Given the description of an element on the screen output the (x, y) to click on. 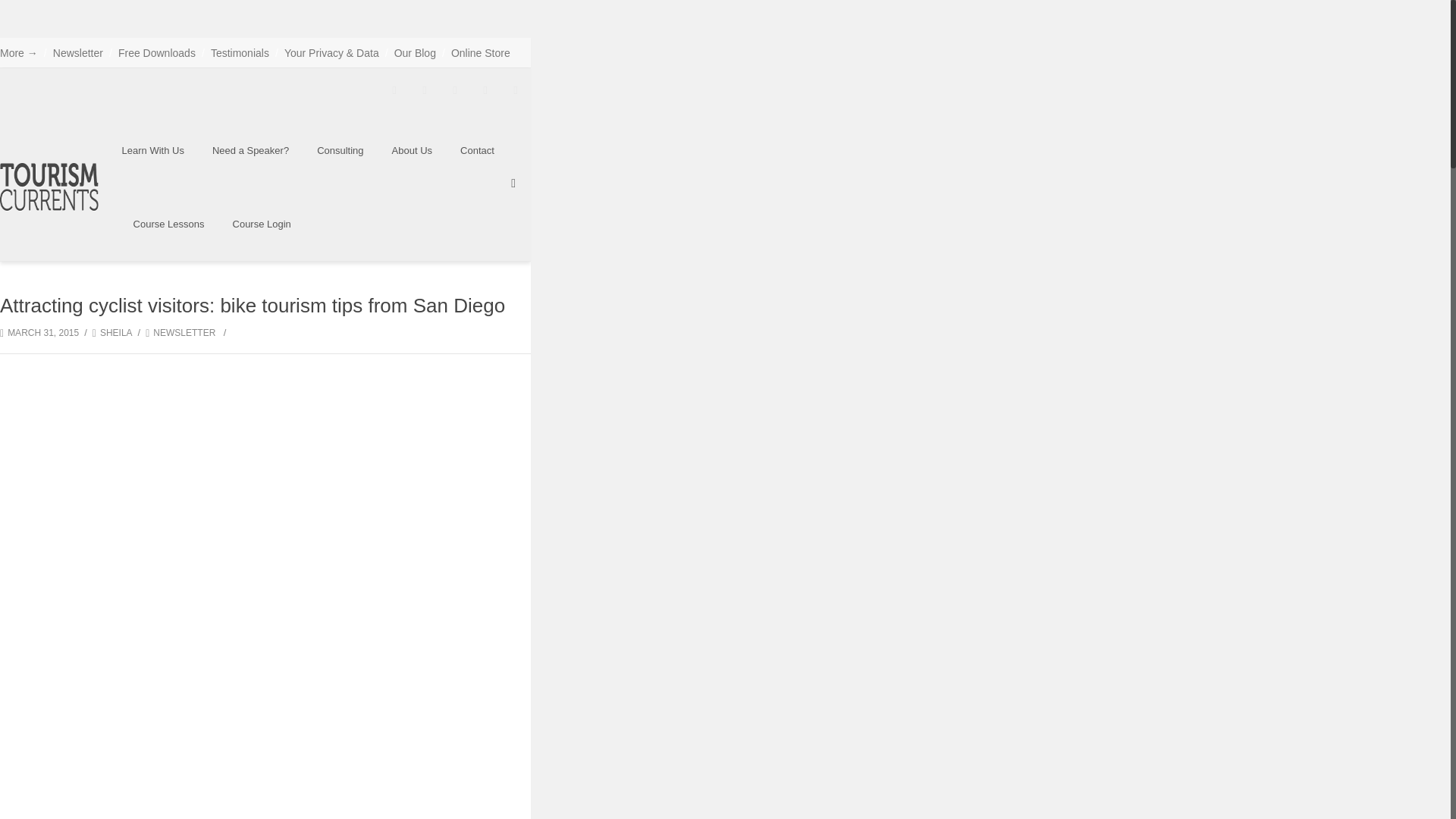
Online Store (481, 52)
Newsletter (77, 52)
Our Blog (414, 52)
Posts by Sheila (116, 332)
SHEILA (116, 332)
Course Login (261, 224)
View all posts in Newsletter (180, 332)
NEWSLETTER (180, 332)
Free Downloads (156, 52)
Learn With Us (153, 150)
